Given the description of an element on the screen output the (x, y) to click on. 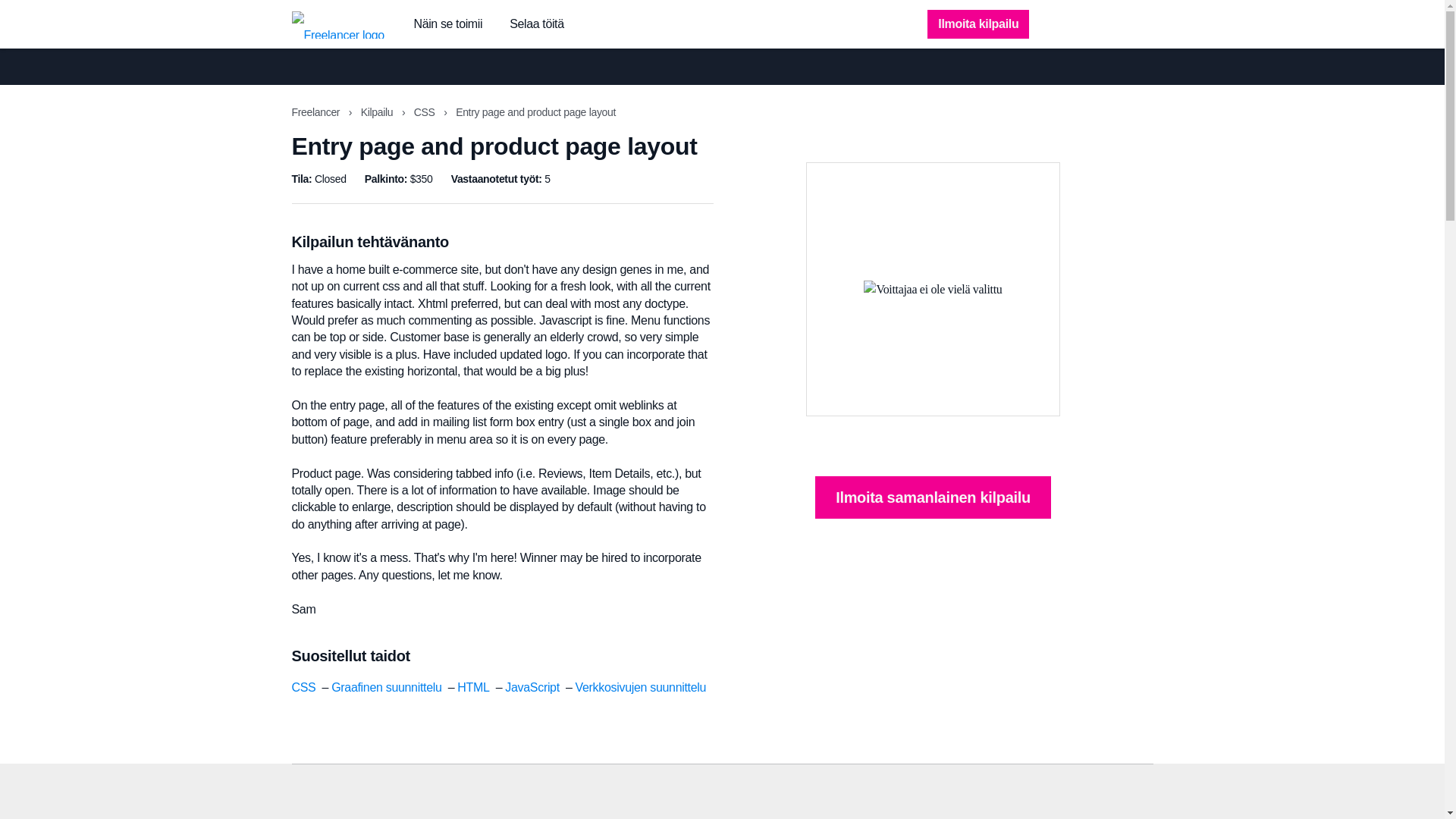
HTML (473, 686)
CSS (425, 111)
Freelancer (316, 111)
Kilpailu (378, 111)
CSS (303, 686)
Verkkosivujen suunnittelu (640, 686)
Ilmoita kilpailu (978, 23)
Ilmoita samanlainen kilpailu (933, 496)
JavaScript (532, 686)
Graafinen suunnittelu (386, 686)
